Given the description of an element on the screen output the (x, y) to click on. 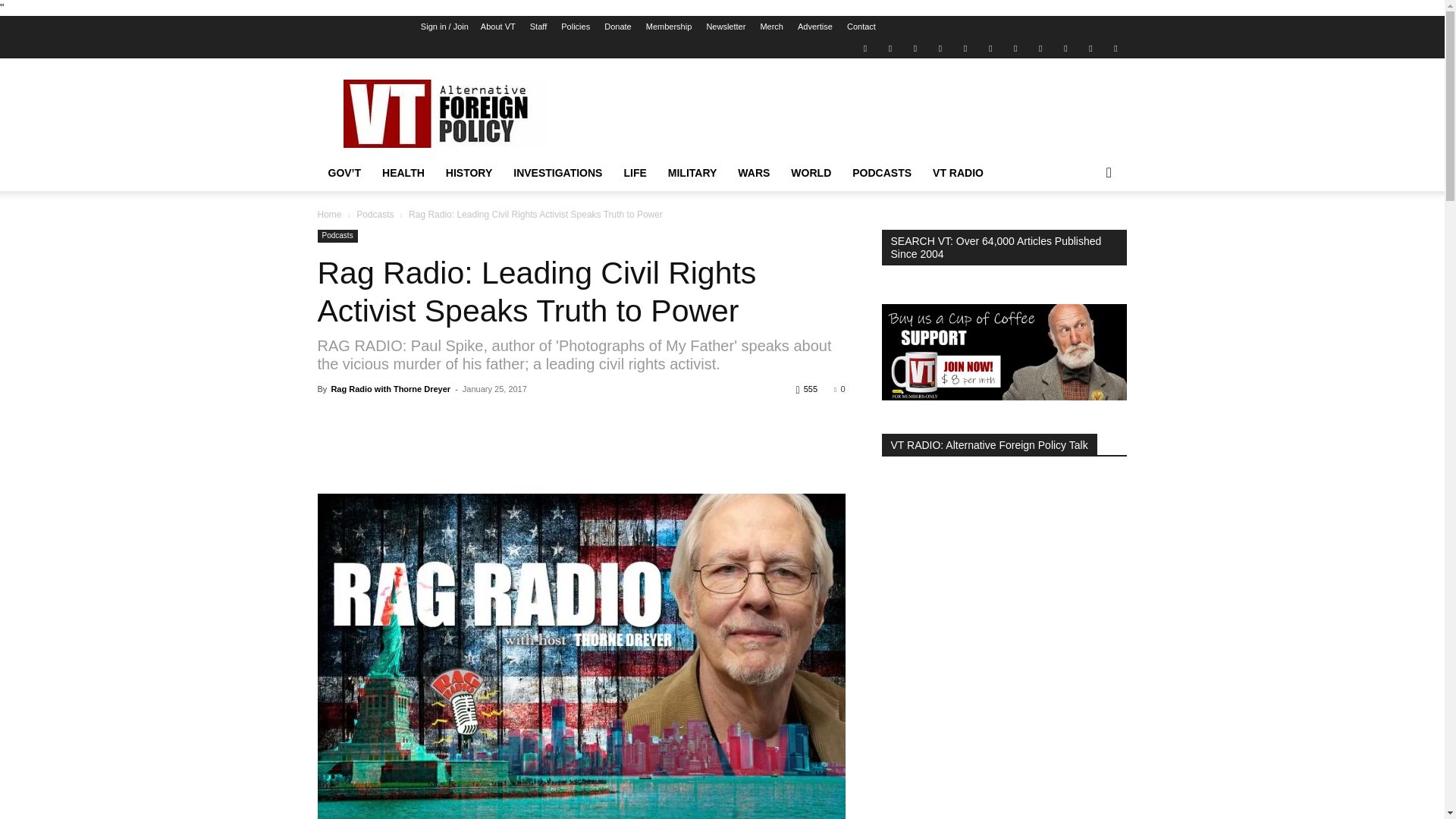
Mail (915, 47)
Blogger (864, 47)
Policies (574, 26)
Merch (771, 26)
Reddit (940, 47)
Newsletter (725, 26)
About VT (497, 26)
Membership (669, 26)
Rumble (964, 47)
Donate (617, 26)
Advertise (814, 26)
Staff (538, 26)
RSS (989, 47)
Contact (861, 26)
Facebook (890, 47)
